Given the description of an element on the screen output the (x, y) to click on. 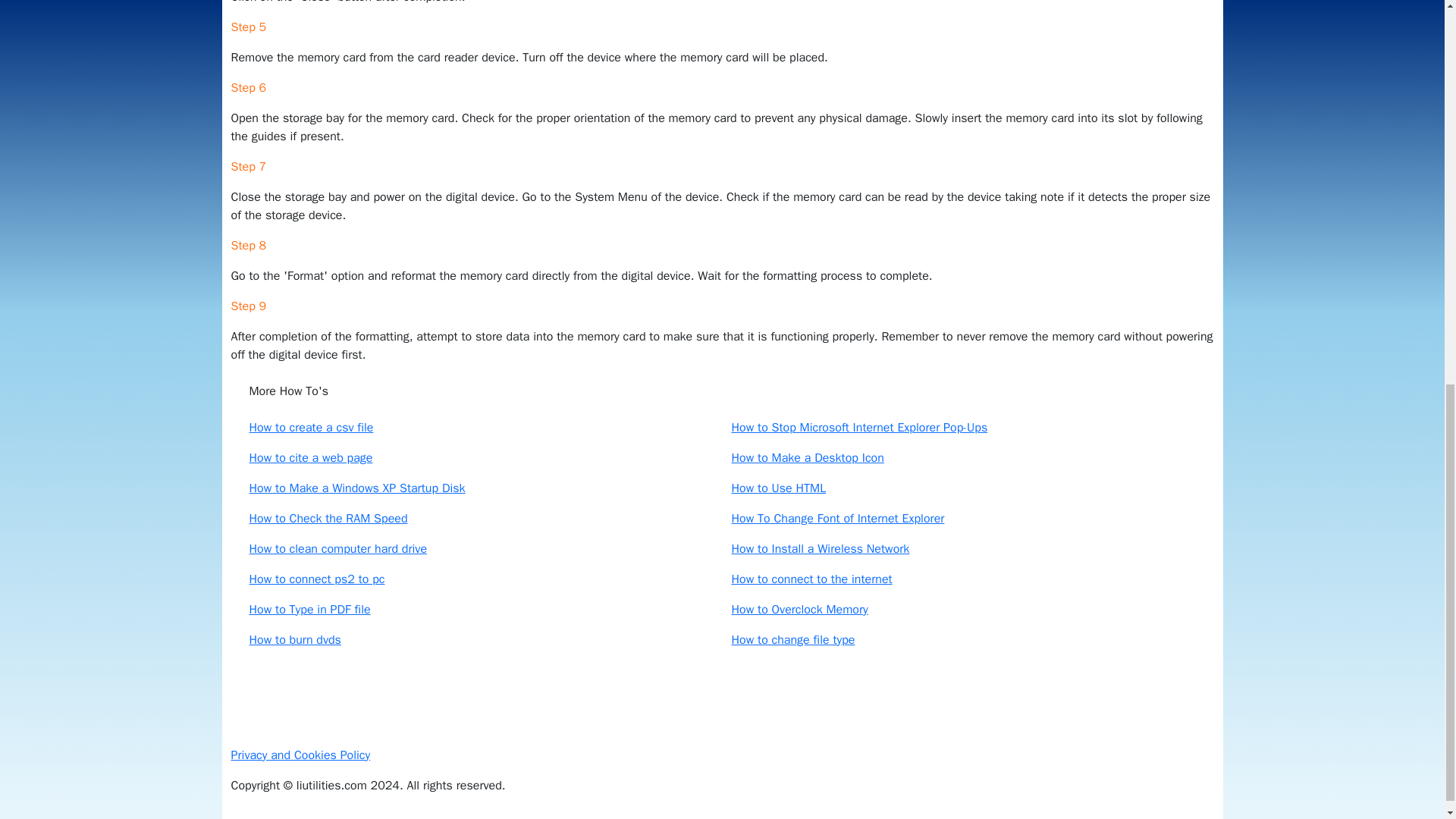
How To Change Font of Internet Explorer (836, 518)
How to Type in PDF file (308, 609)
How to clean computer hard drive (337, 548)
How to change file type (792, 639)
How to create a csv file (310, 427)
How to burn dvds (294, 639)
How to Install a Wireless Network (819, 548)
How to Check the RAM Speed (327, 518)
How to Make a Windows XP Startup Disk (356, 488)
How to connect ps2 to pc (316, 579)
